Given the description of an element on the screen output the (x, y) to click on. 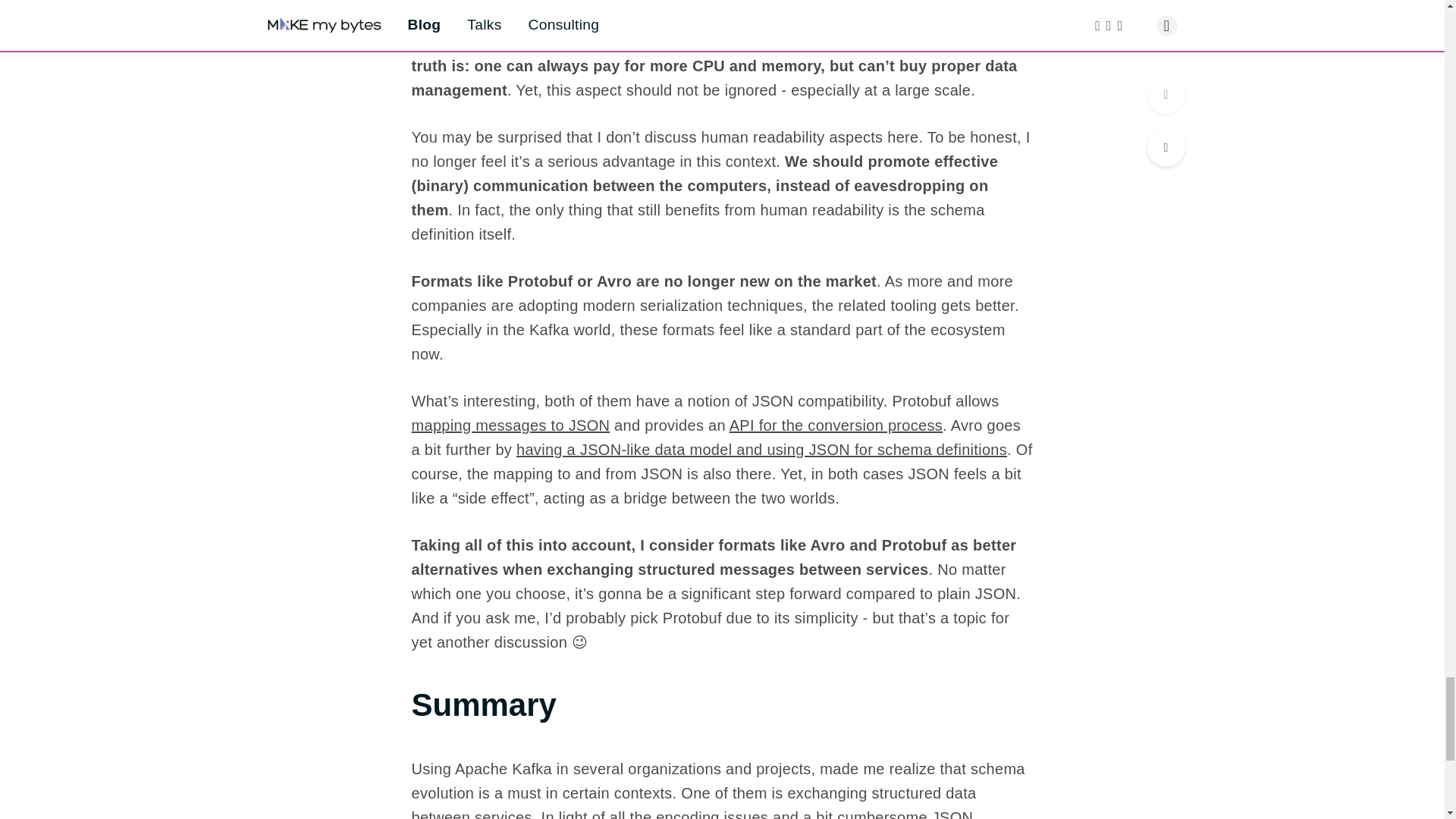
API for the conversion process (835, 425)
mapping messages to JSON (510, 425)
